Given the description of an element on the screen output the (x, y) to click on. 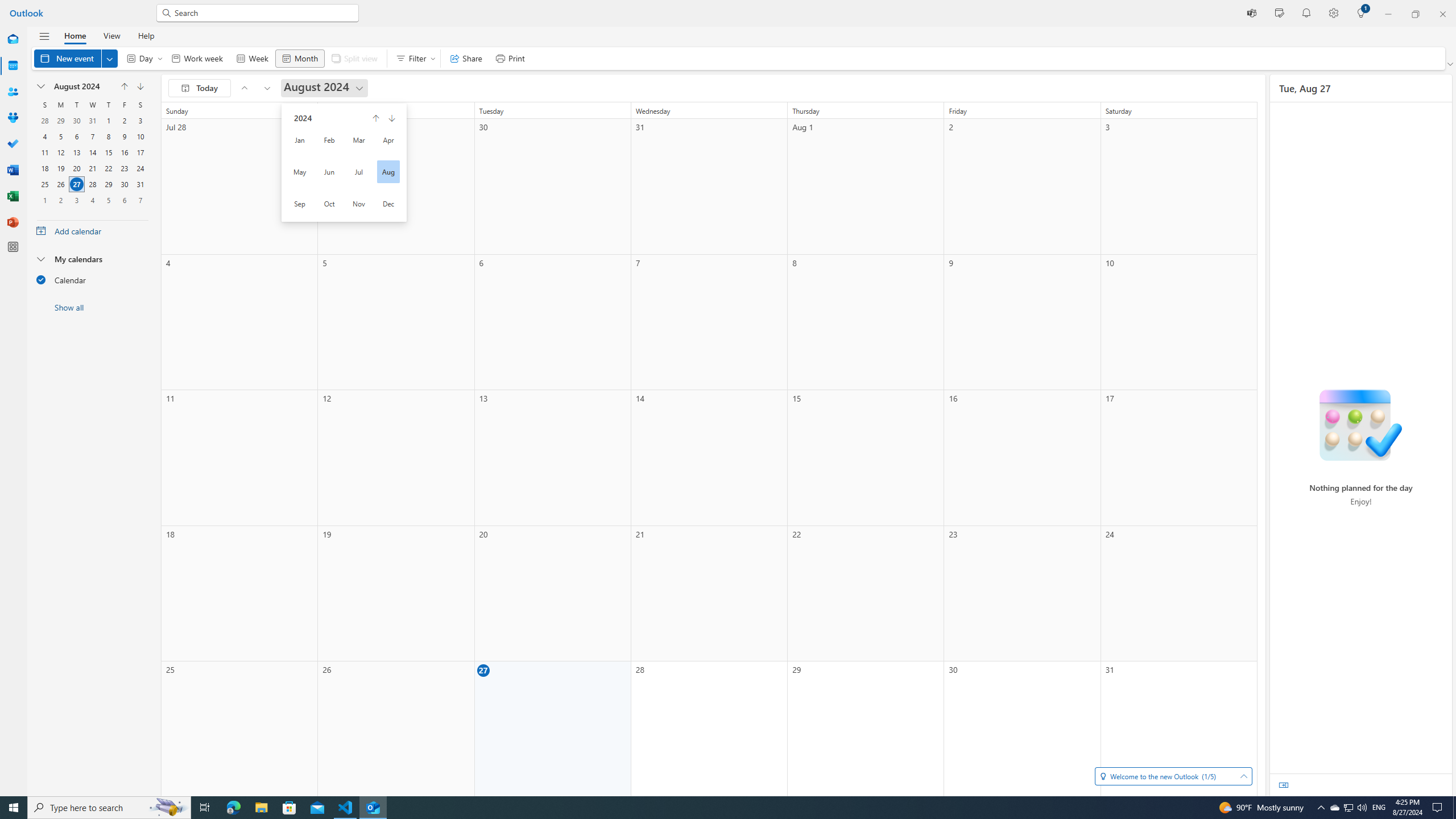
3, August, 2024 (140, 120)
Go to next month September (140, 86)
23, August, 2024 (124, 168)
6, August, 2024 (75, 136)
1, August, 2024 (108, 120)
5, September, 2024 (108, 200)
20, August, 2024 (75, 168)
23, August, 2024 (124, 168)
15, August, 2024 (108, 152)
Split view (354, 58)
18, August, 2024 (44, 168)
4, August, 2024 (44, 136)
